Given the description of an element on the screen output the (x, y) to click on. 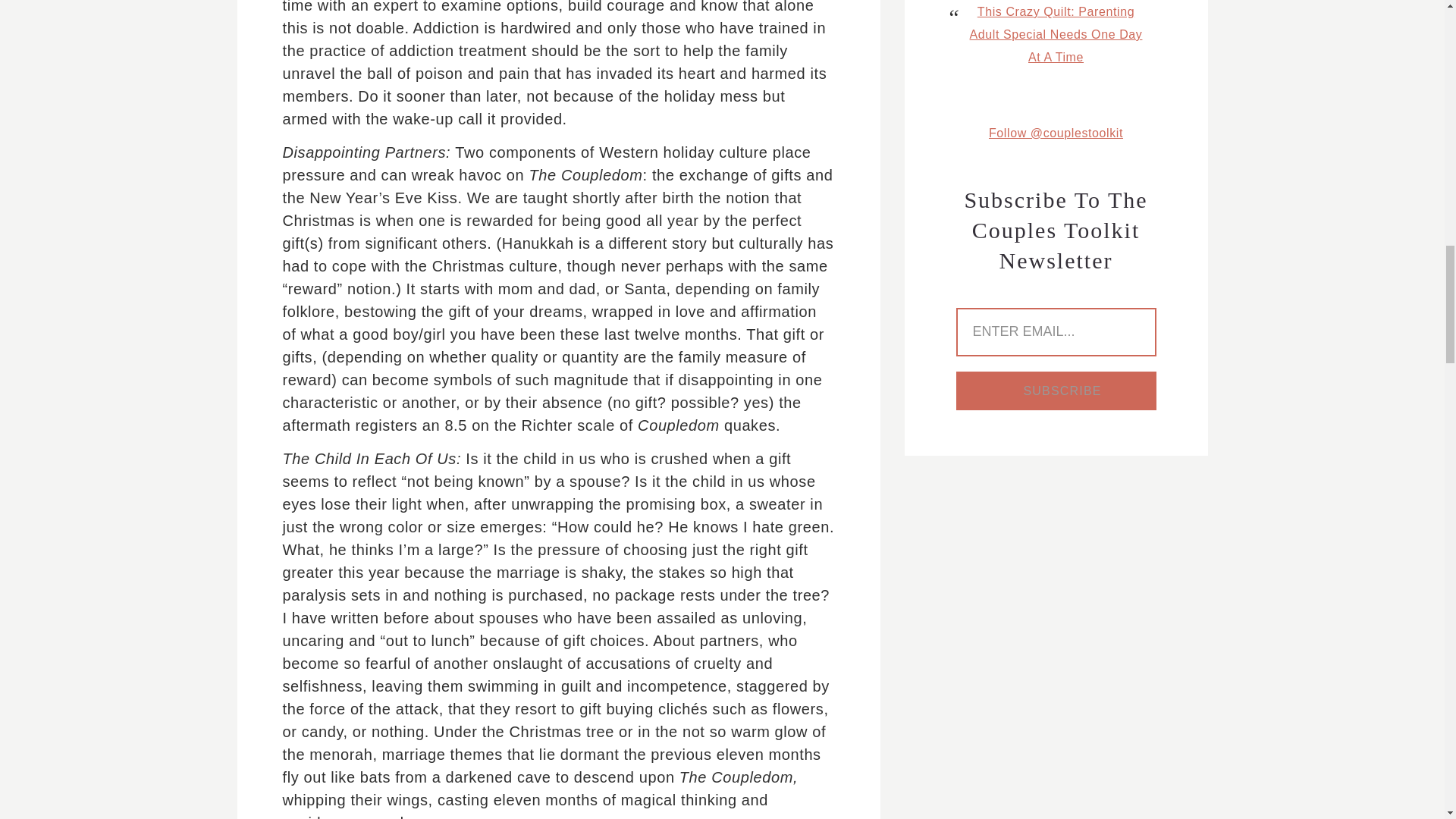
Subscribe (1055, 390)
